Given the description of an element on the screen output the (x, y) to click on. 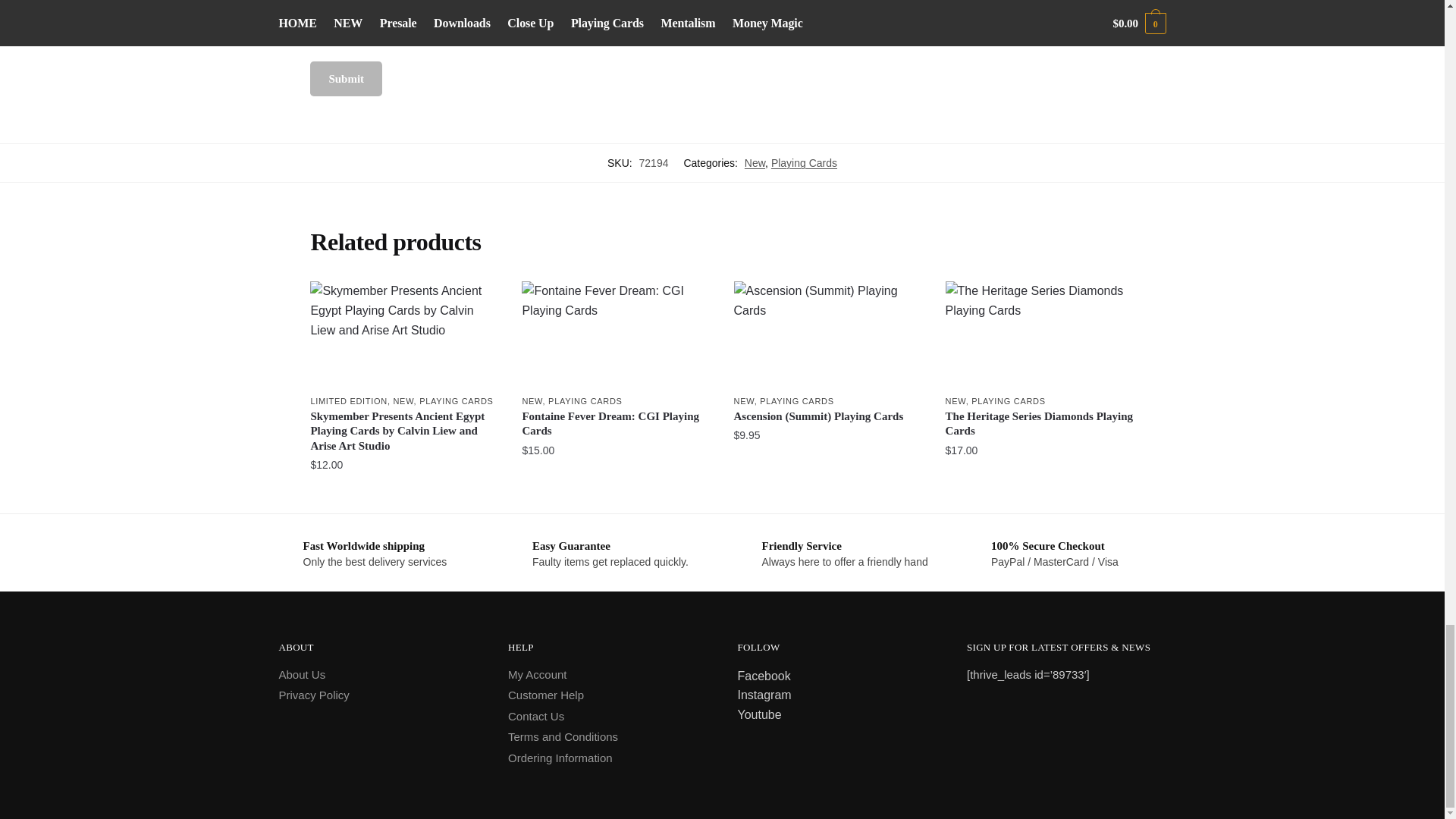
New (754, 162)
Submit (345, 79)
The Heritage Series Diamonds Playing Cards (1039, 334)
yes (315, 39)
Submit (345, 79)
Fontaine Fever Dream: CGI Playing Cards (615, 334)
Playing Cards (804, 162)
